Given the description of an element on the screen output the (x, y) to click on. 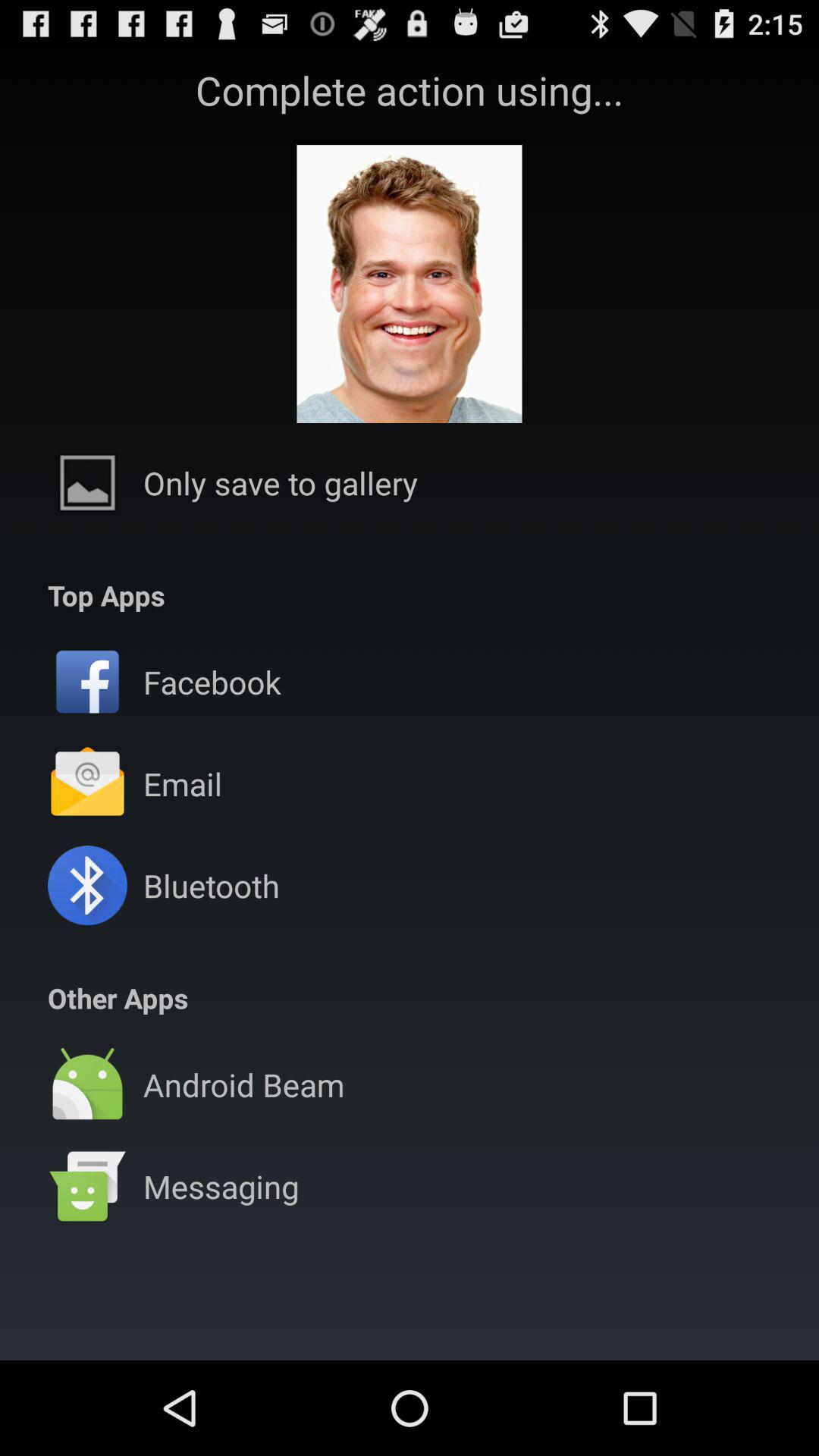
turn off the app above the other apps app (211, 885)
